Given the description of an element on the screen output the (x, y) to click on. 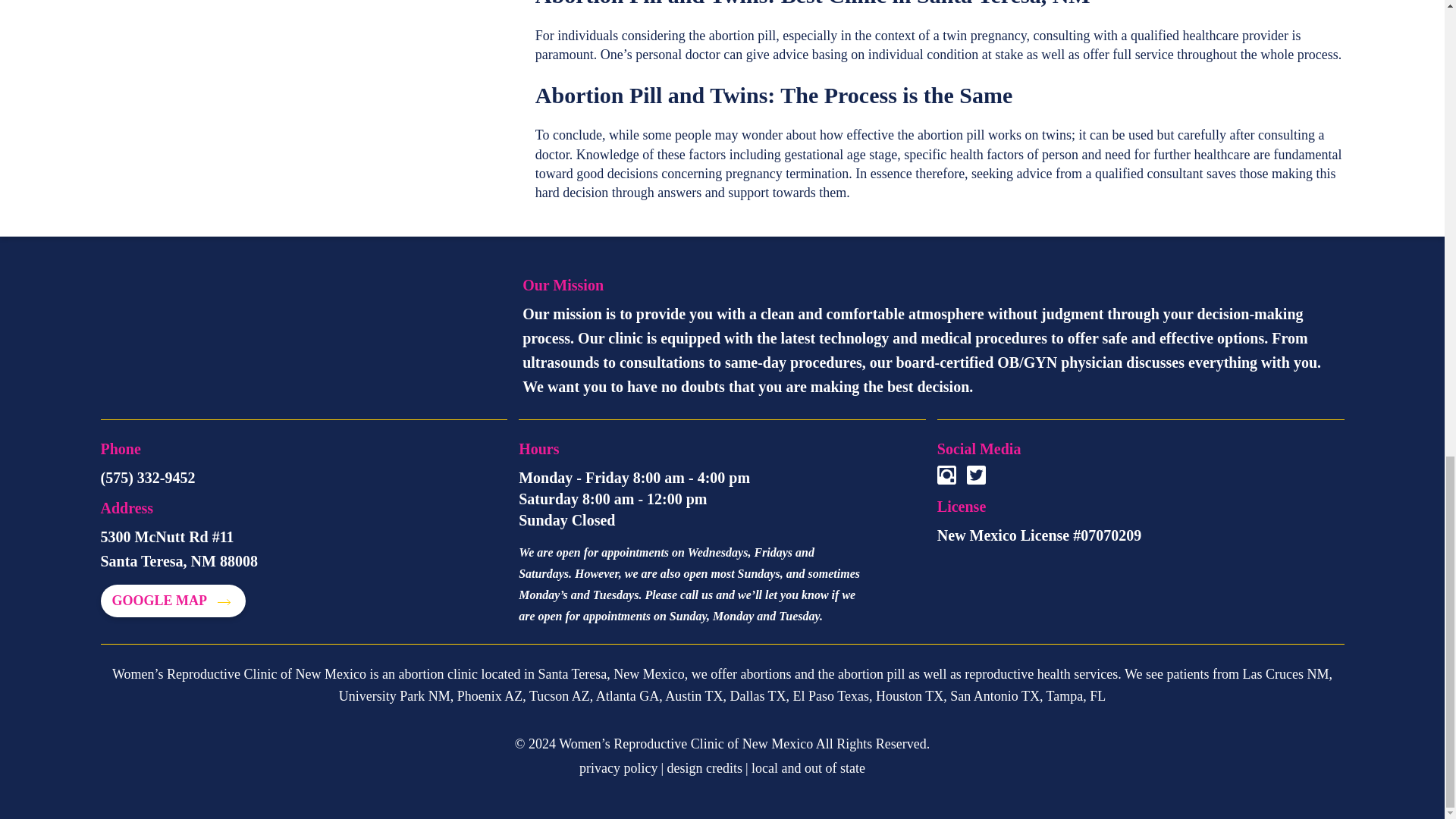
Tucson AZ (559, 695)
design credits (704, 767)
local and out of state (807, 767)
Abortion Clinic Las Cruces, NM (1284, 673)
El Paso abortion clinic (831, 695)
Phoenix AZ (489, 695)
Dallas TX (757, 695)
University Park NM (394, 695)
San Antonio TX (994, 695)
GOOGLE MAP (172, 600)
Las Cruces NM (1284, 673)
Tampa, FL (1076, 695)
Austin TX (693, 695)
El Paso Texas (831, 695)
Dallas, TX Abortion Pill (757, 695)
